Given the description of an element on the screen output the (x, y) to click on. 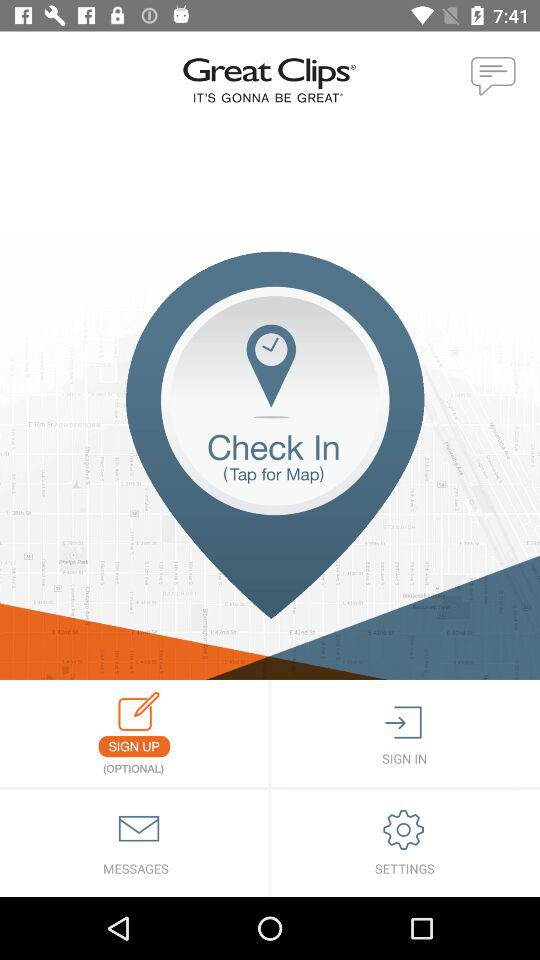
location check in icon (269, 465)
